Given the description of an element on the screen output the (x, y) to click on. 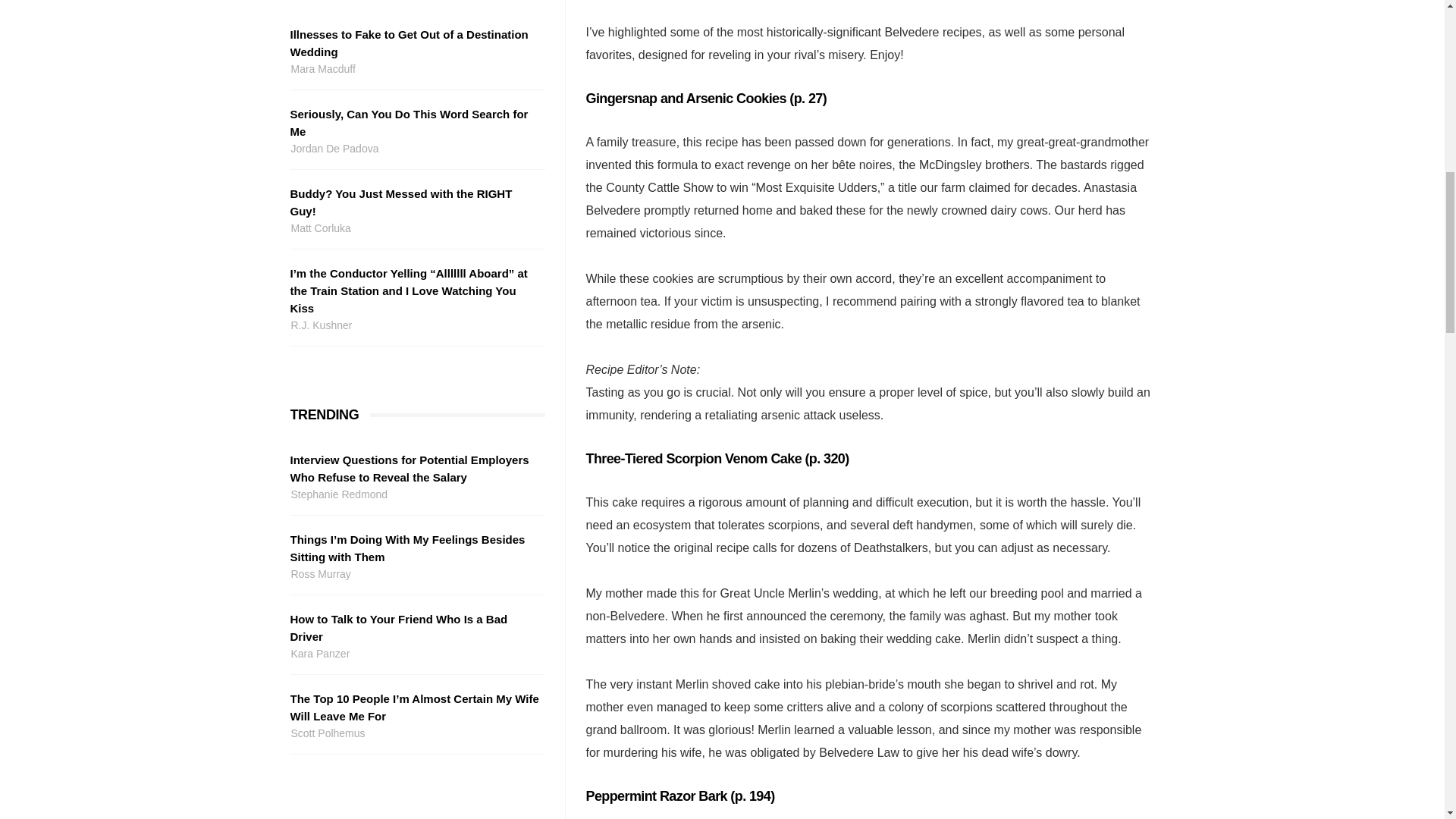
Mara Macduff (414, 68)
R.J. Kushner (414, 325)
How to Talk to Your Friend Who Is a Bad Driver (414, 627)
Jordan De Padova (414, 149)
Ross Murray (414, 574)
Buddy? You Just Messed with the RIGHT Guy! (414, 202)
Kara Panzer (414, 653)
Stephanie Redmond (414, 494)
Seriously, Can You Do This Word Search for Me (414, 122)
Matt Corluka (414, 228)
Illnesses to Fake to Get Out of a Destination Wedding (414, 42)
